Given the description of an element on the screen output the (x, y) to click on. 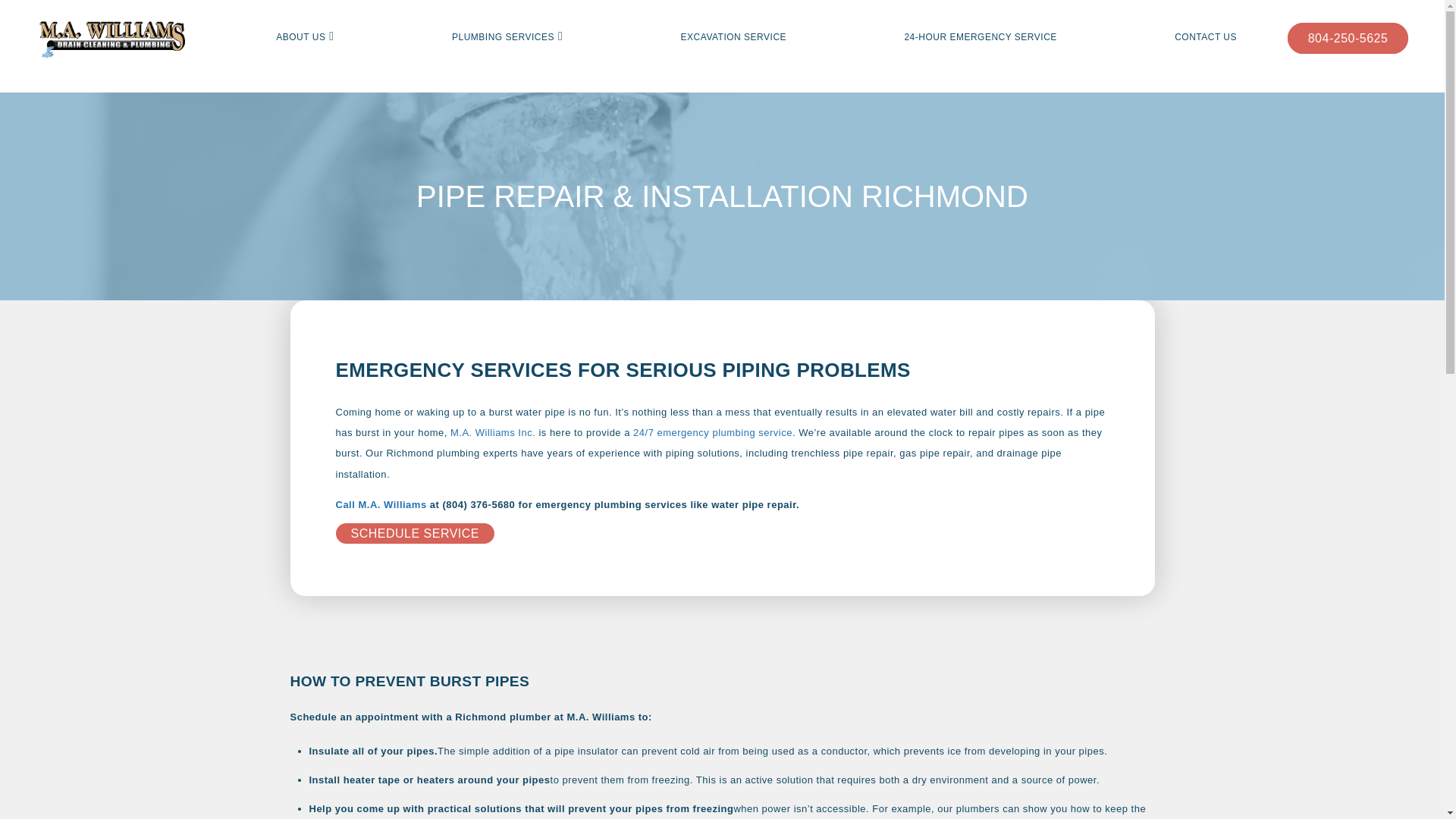
ABOUT US (300, 36)
PLUMBING SERVICES (502, 36)
